Given the description of an element on the screen output the (x, y) to click on. 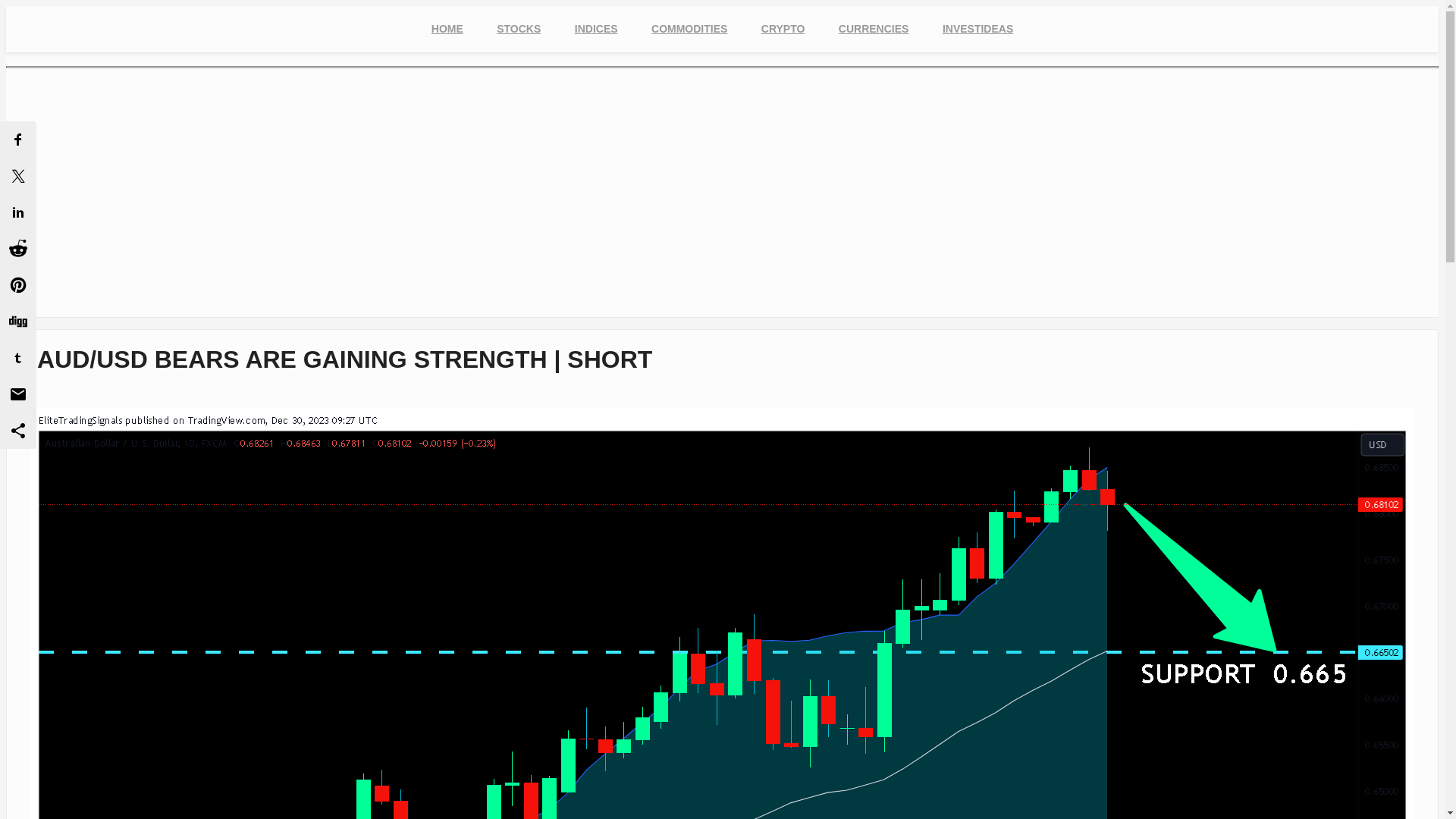
INDICES (596, 28)
CURRENCIES (874, 28)
INVESTIDEAS (977, 28)
HOME (447, 28)
STOCKS (518, 28)
COMMODITIES (689, 28)
CRYPTO (783, 28)
